Given the description of an element on the screen output the (x, y) to click on. 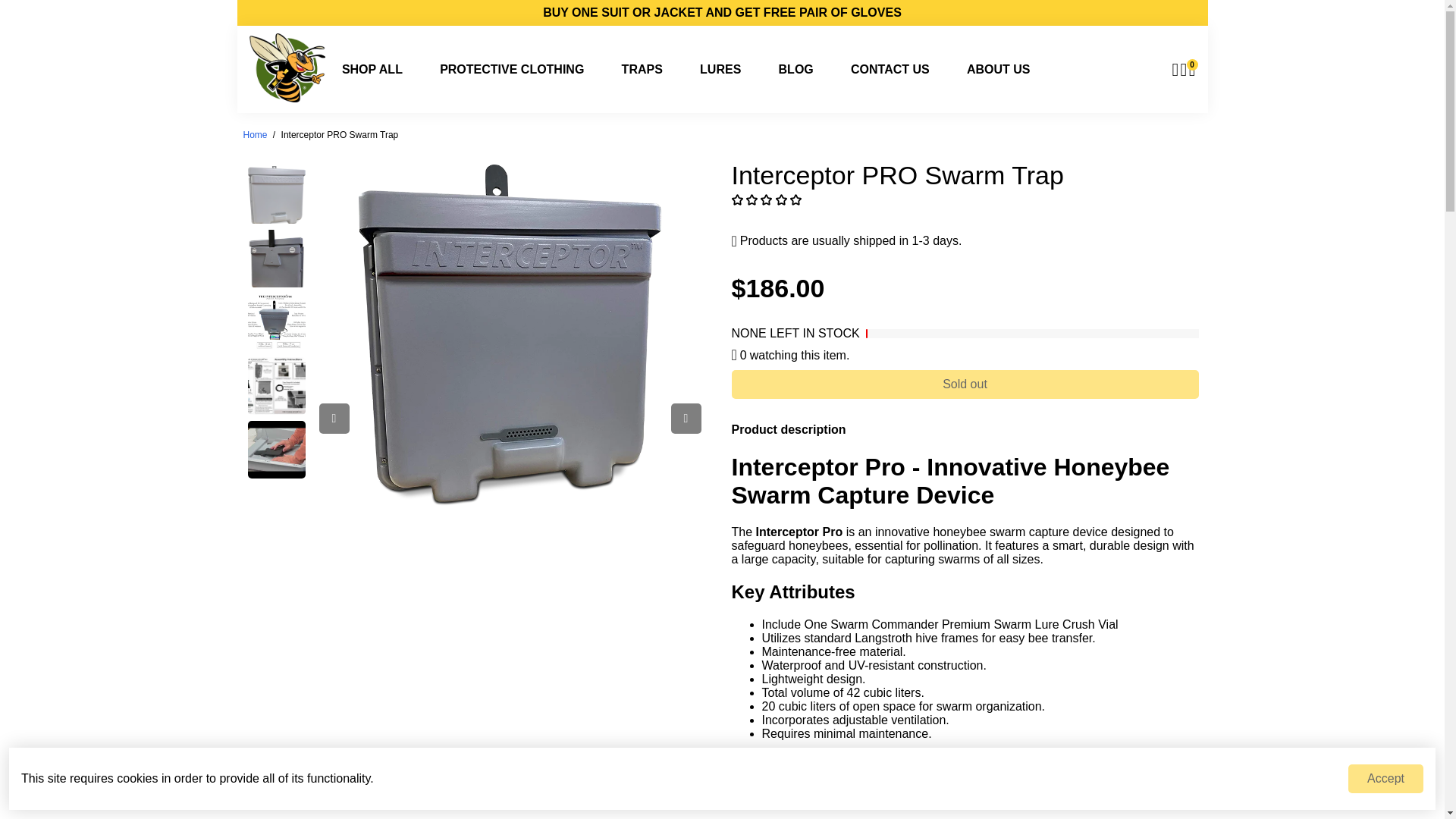
Home (254, 134)
PROTECTIVE CLOTHING (511, 69)
ABOUT US (998, 69)
SHOP ALL (371, 69)
CONTACT US (889, 69)
